Given the description of an element on the screen output the (x, y) to click on. 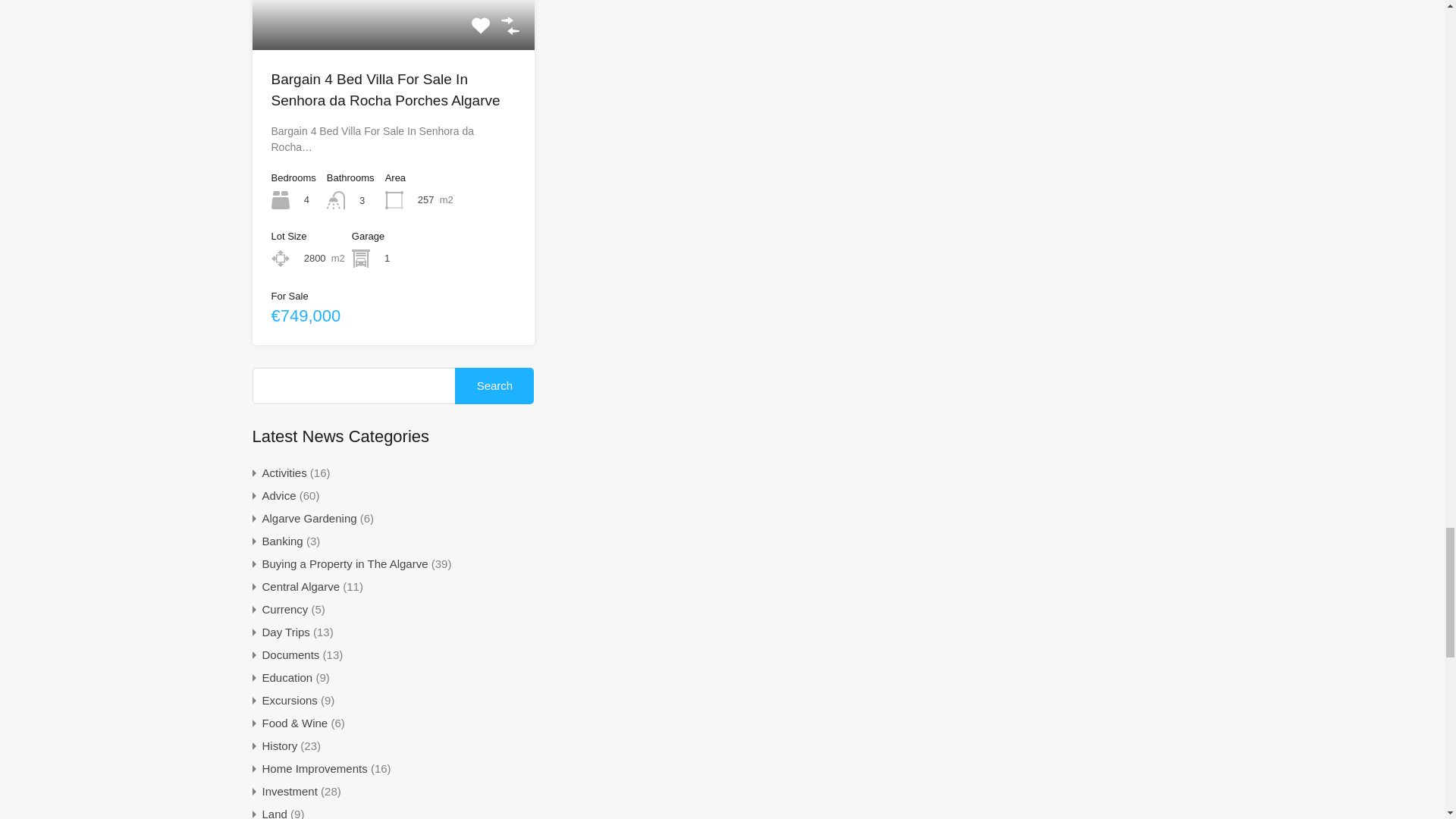
Search (494, 385)
